Given the description of an element on the screen output the (x, y) to click on. 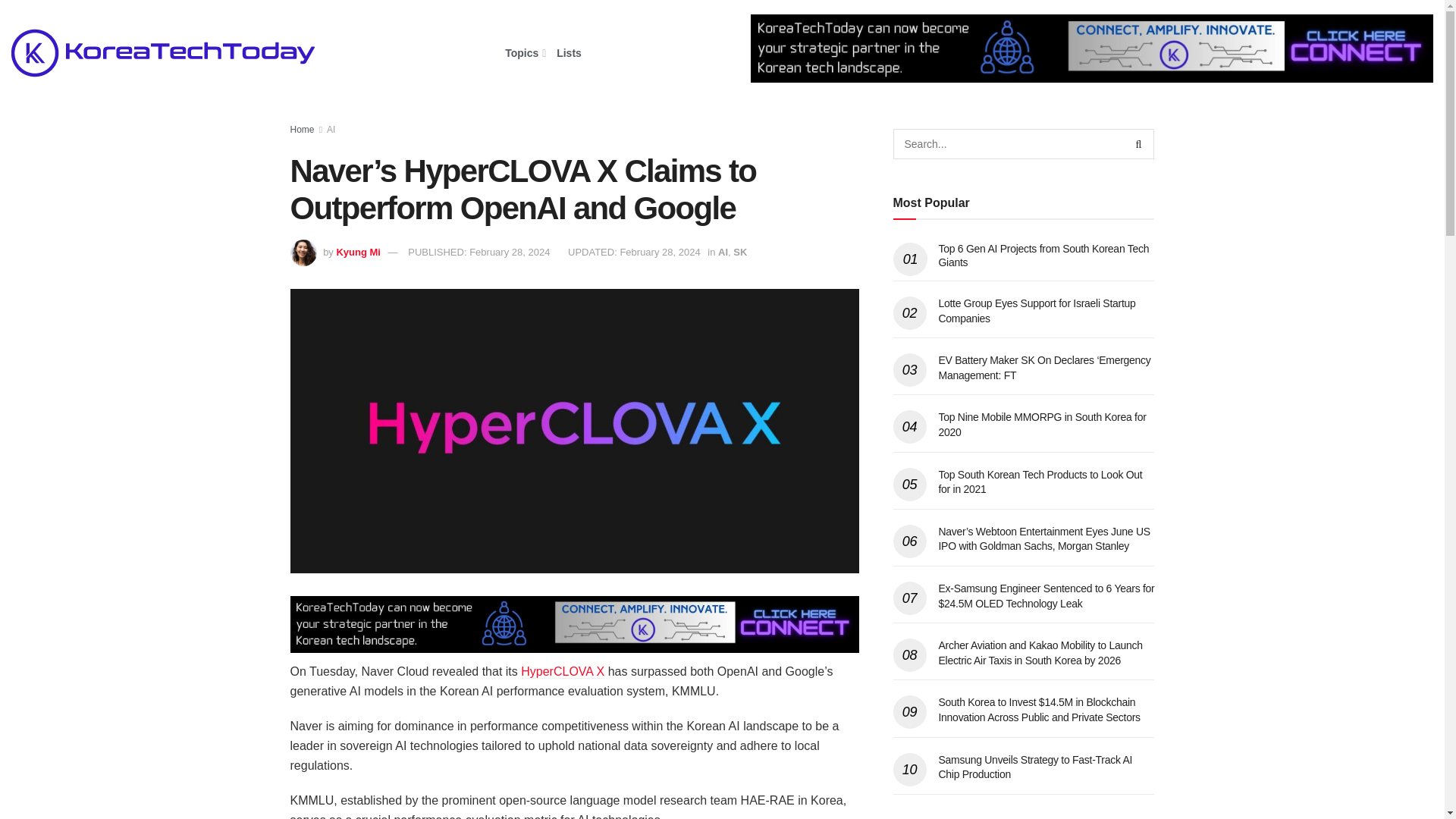
Topics (524, 53)
